Given the description of an element on the screen output the (x, y) to click on. 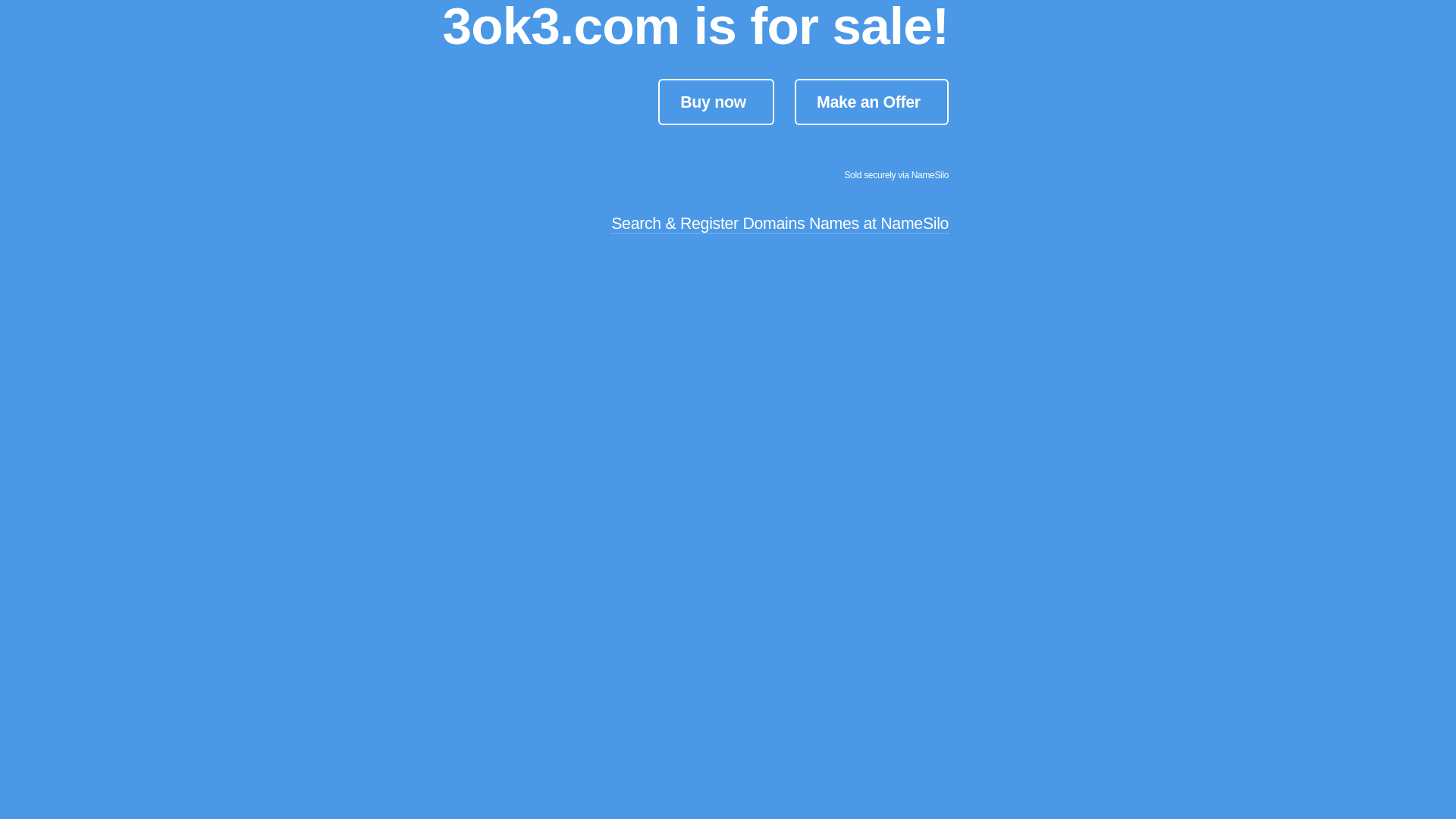
Make an Offer Element type: text (871, 101)
Buy now Element type: text (716, 101)
Search & Register Domains Names at NameSilo Element type: text (779, 223)
